Given the description of an element on the screen output the (x, y) to click on. 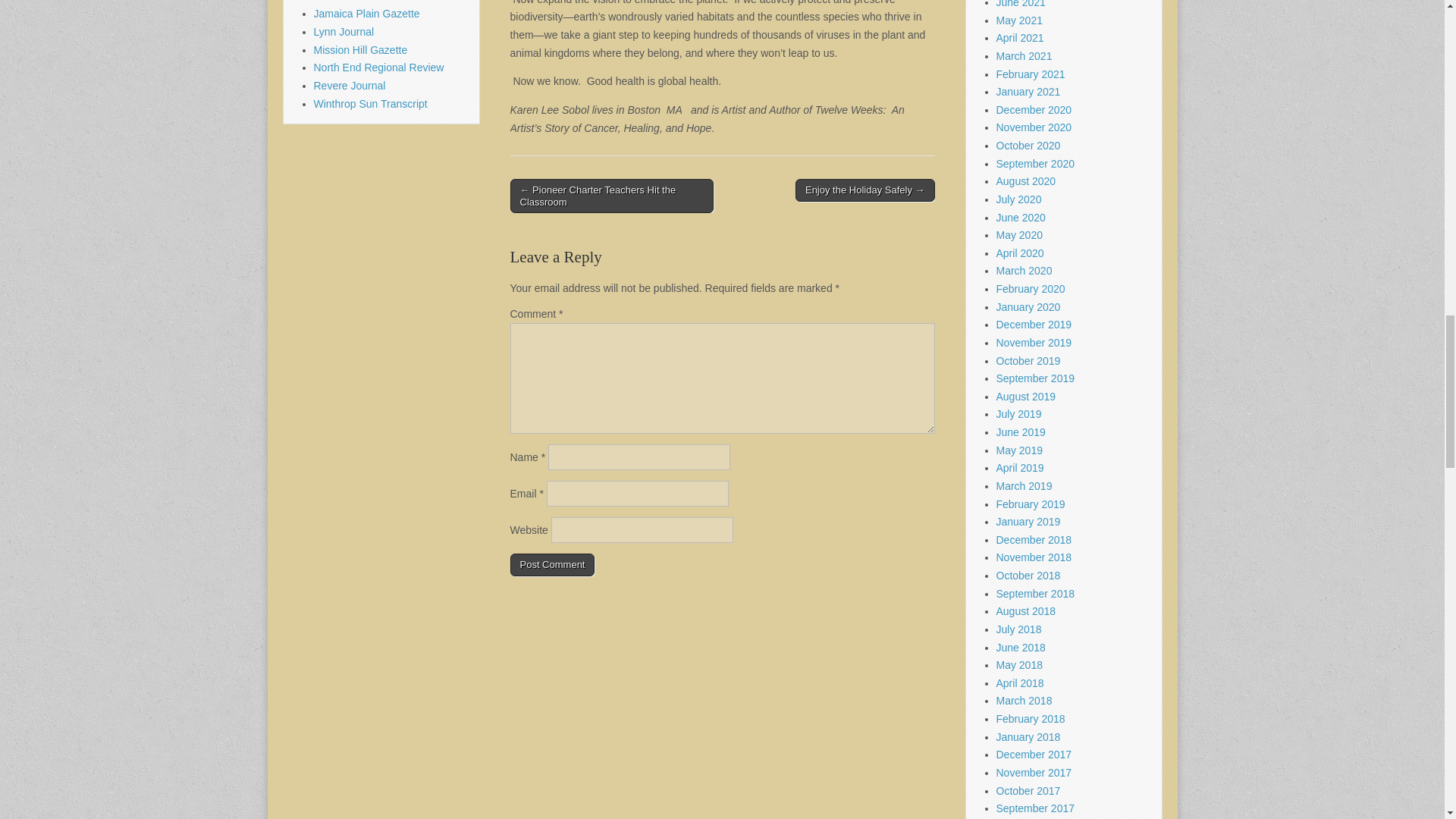
Jamaica Plain Gazette (367, 13)
Post Comment (551, 564)
Post Comment (551, 564)
East Boston Times Free Press (385, 1)
Lynn Journal (344, 31)
